Given the description of an element on the screen output the (x, y) to click on. 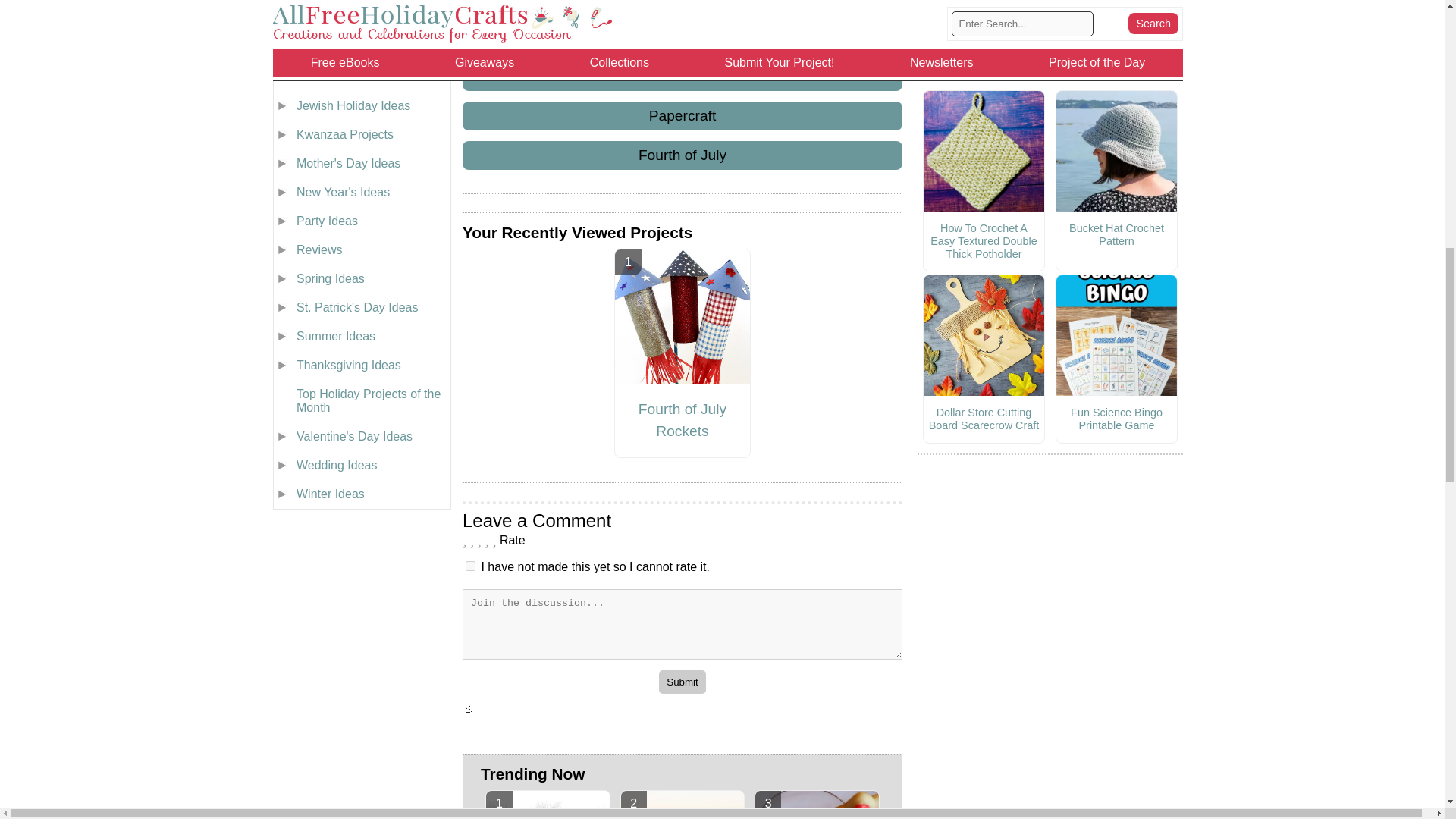
1 (470, 565)
Submit (681, 681)
